Given the description of an element on the screen output the (x, y) to click on. 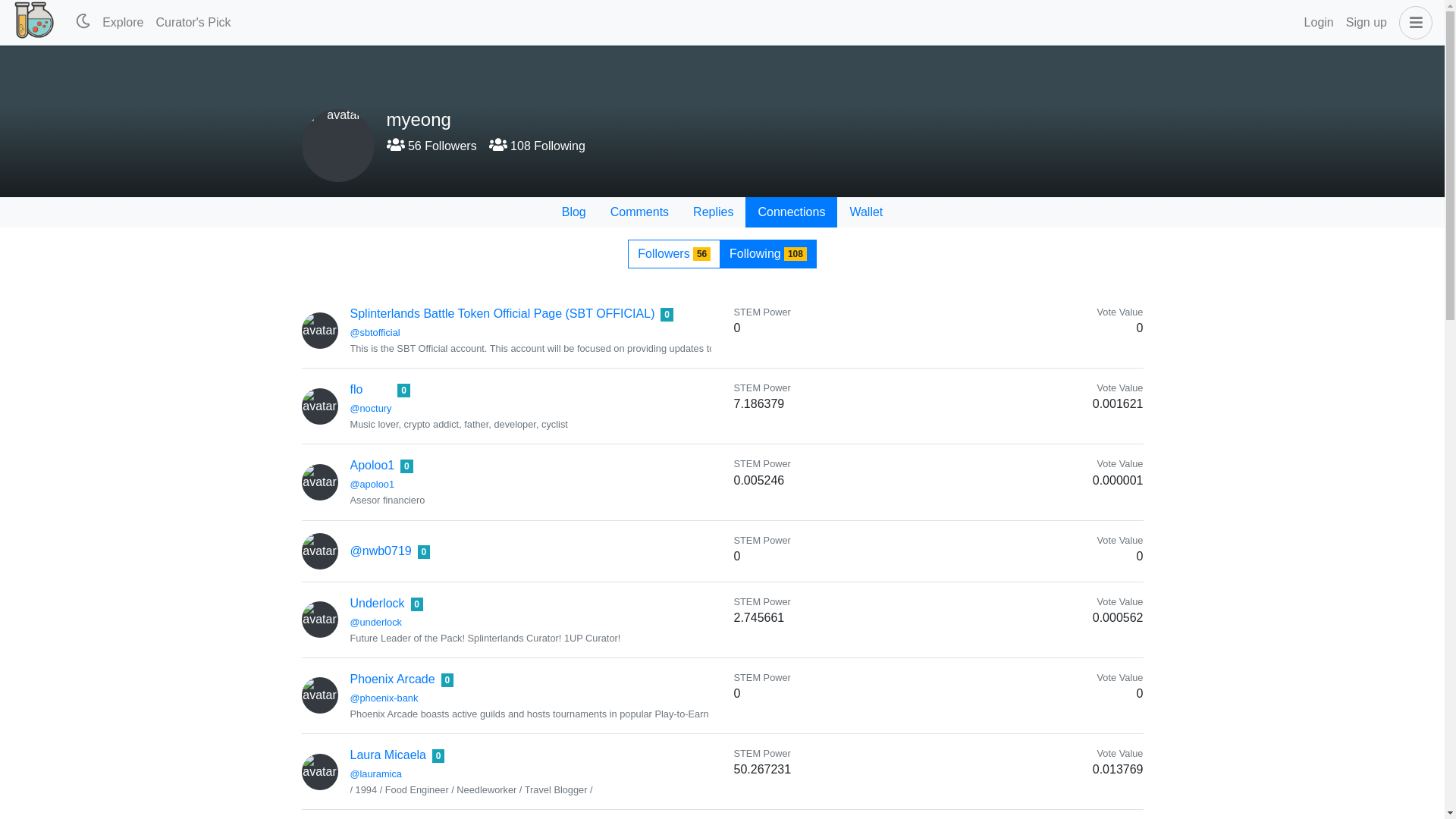
Followers 56 (673, 253)
Underlock (377, 603)
Explore (122, 22)
Laura Micaela (388, 754)
Replies (713, 212)
Login (1318, 22)
Connections (791, 212)
Wallet (866, 212)
Comments (639, 212)
Phoenix Arcade (392, 678)
